Given the description of an element on the screen output the (x, y) to click on. 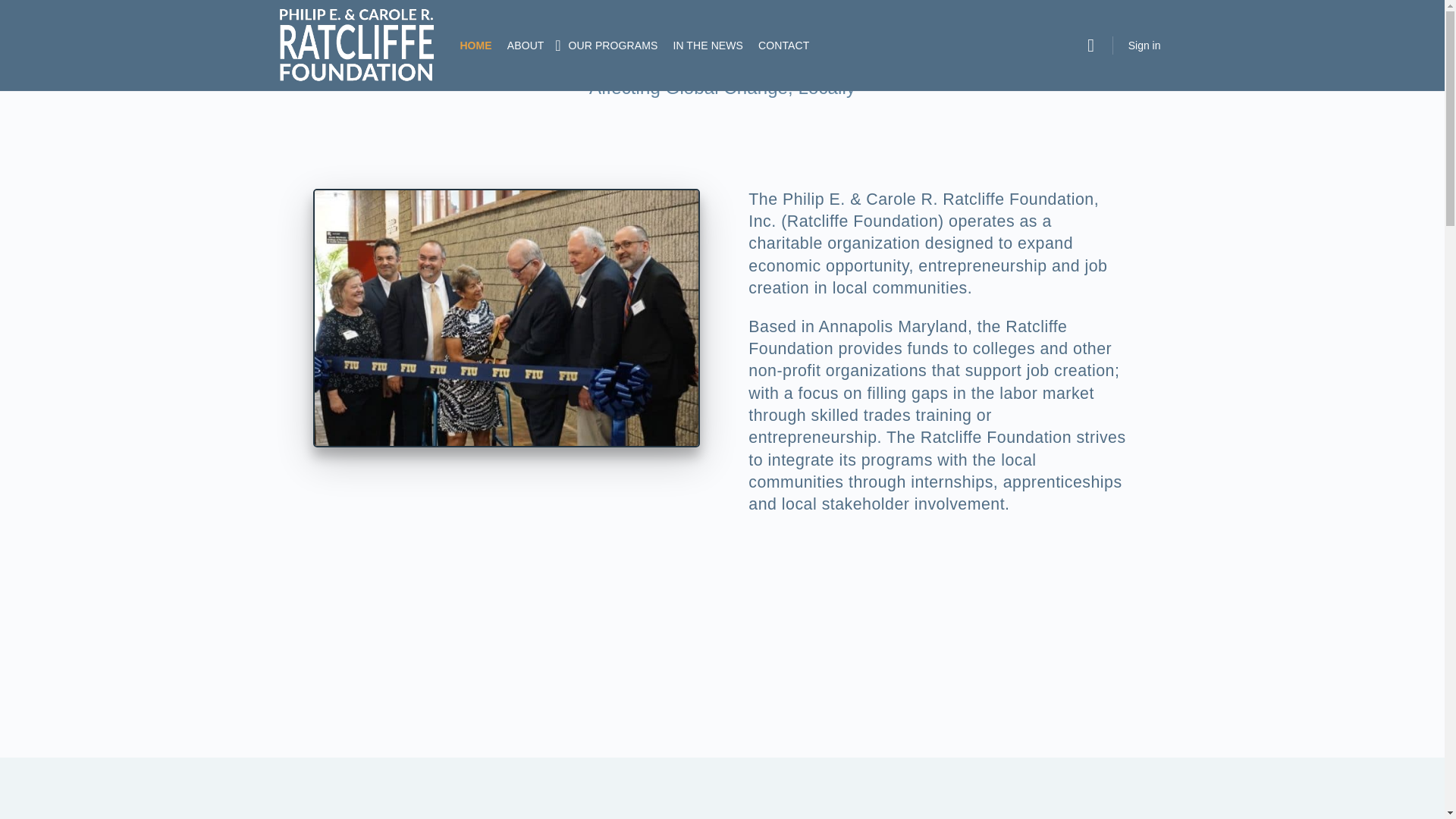
OUR PROGRAMS (613, 45)
Carole Ratcliffe officiating in FIU Ribbon Cutting Ceremony (505, 318)
Sign in (1144, 45)
